Given the description of an element on the screen output the (x, y) to click on. 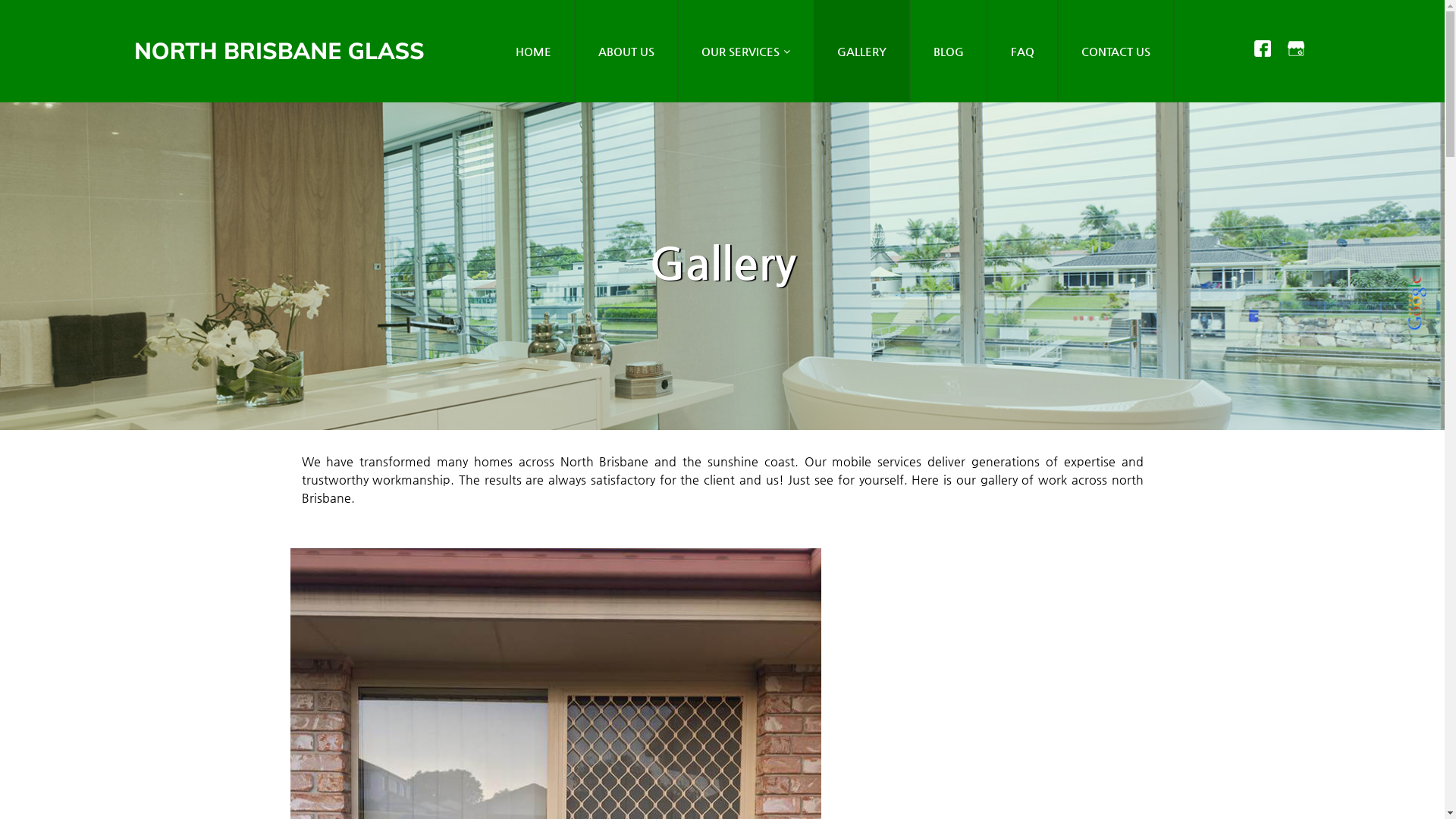
ABOUT US Element type: text (626, 51)
HOME Element type: text (533, 51)
OUR SERVICES Element type: text (746, 51)
GALLERY Element type: text (862, 51)
FAQ Element type: text (1023, 51)
CONTACT US Element type: text (1116, 51)
BLOG Element type: text (949, 51)
